Given the description of an element on the screen output the (x, y) to click on. 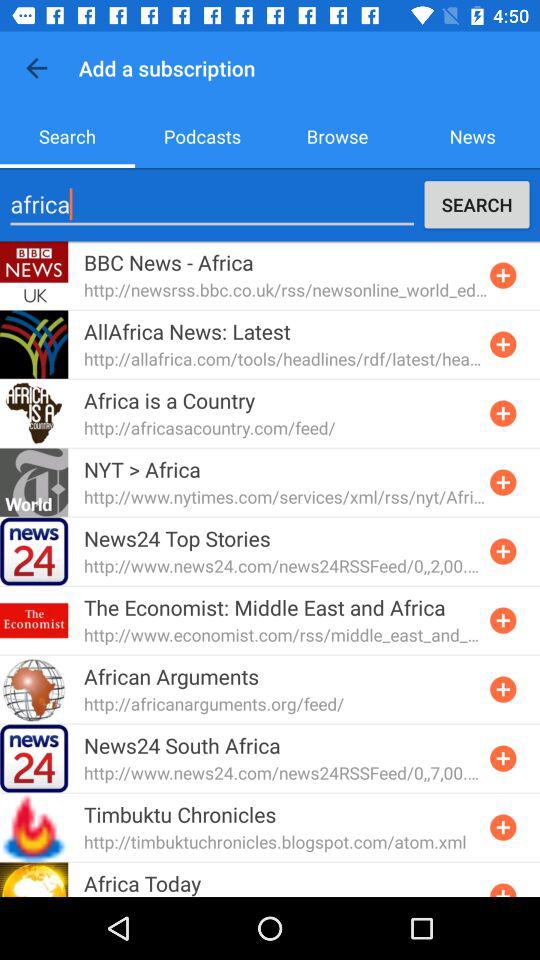
jump to the news24 south africa (182, 745)
